Given the description of an element on the screen output the (x, y) to click on. 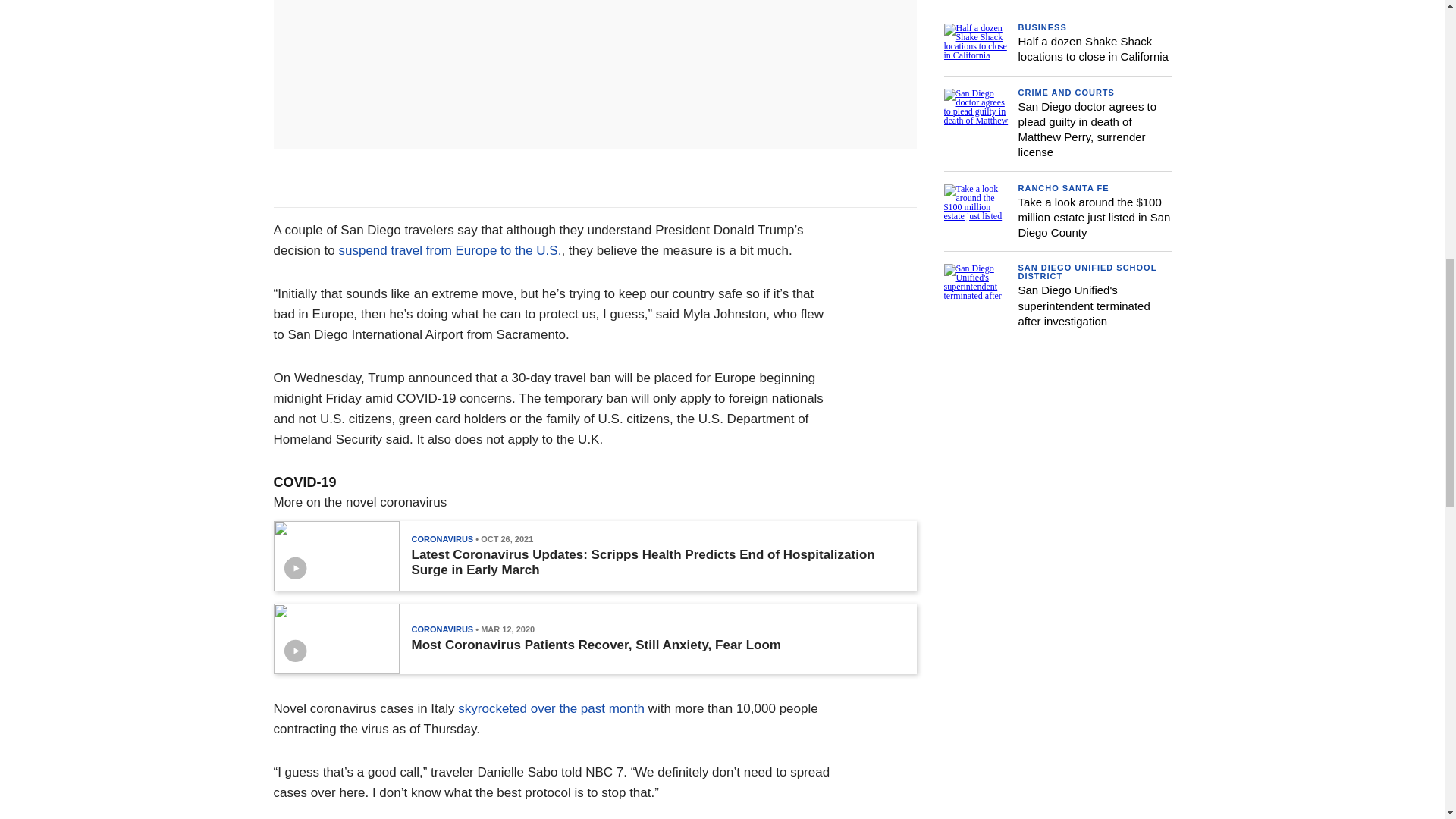
Most Coronavirus Patients Recover, Still Anxiety, Fear Loom (595, 645)
skyrocketed over the past month (551, 708)
suspend travel from Europe to the U.S. (448, 250)
CORONAVIRUS (441, 538)
CORONAVIRUS (441, 628)
